Given the description of an element on the screen output the (x, y) to click on. 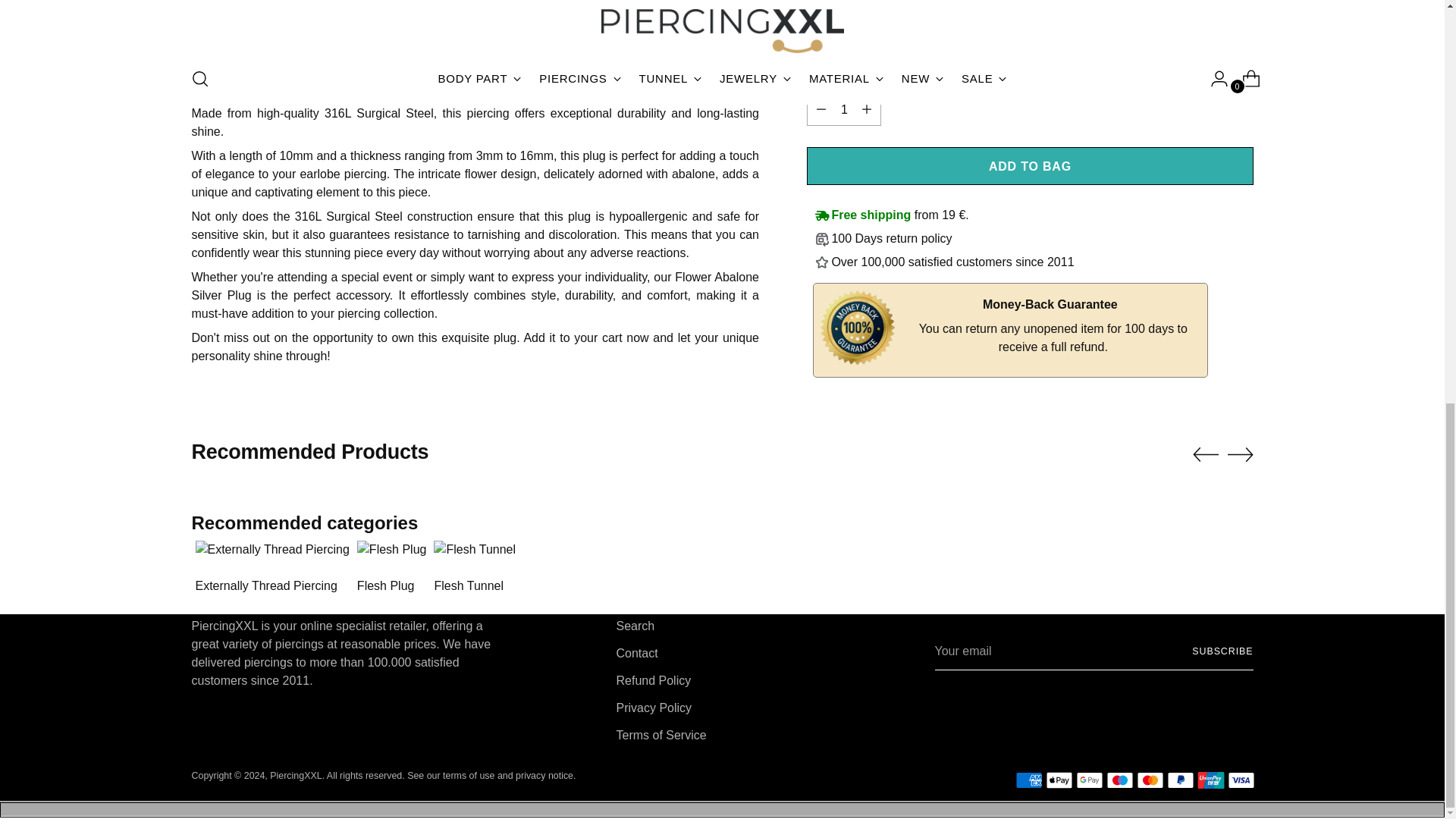
Flesh Tunnel (474, 567)
Externally Thread Piercing (271, 567)
Flesh Plug (391, 567)
